Given the description of an element on the screen output the (x, y) to click on. 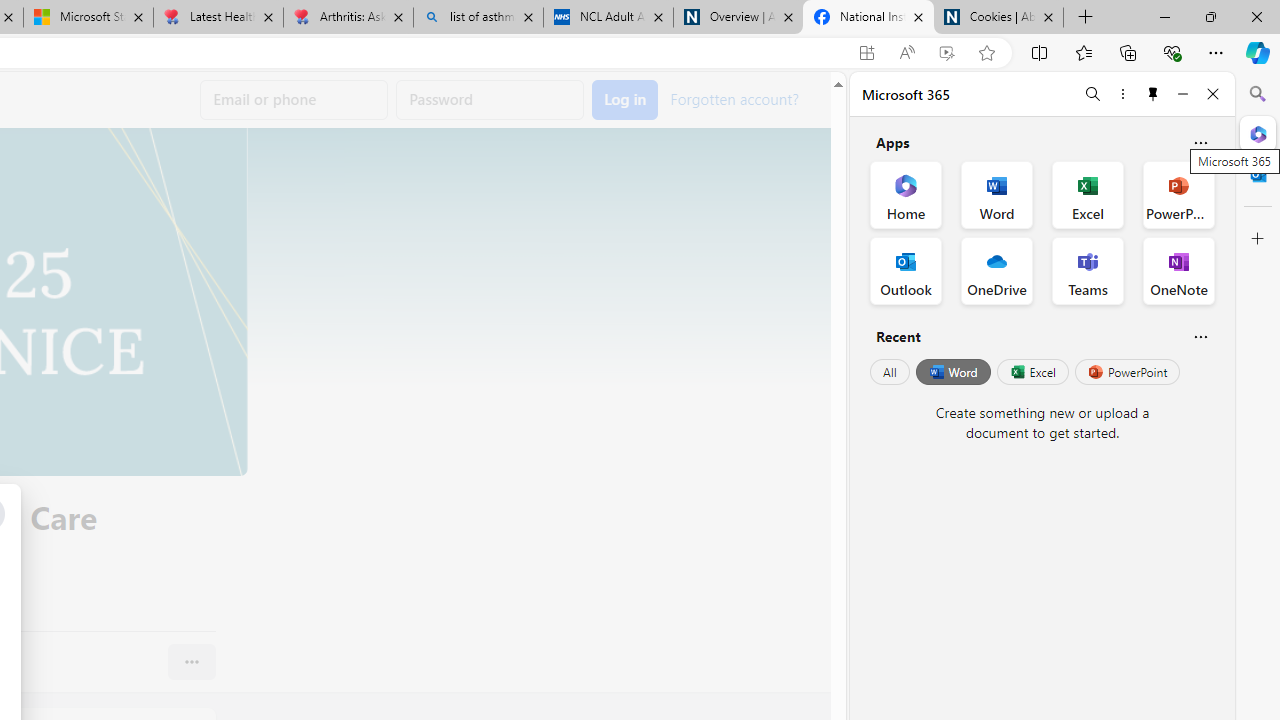
Home Office App (906, 194)
Email or phone (294, 99)
